Given the description of an element on the screen output the (x, y) to click on. 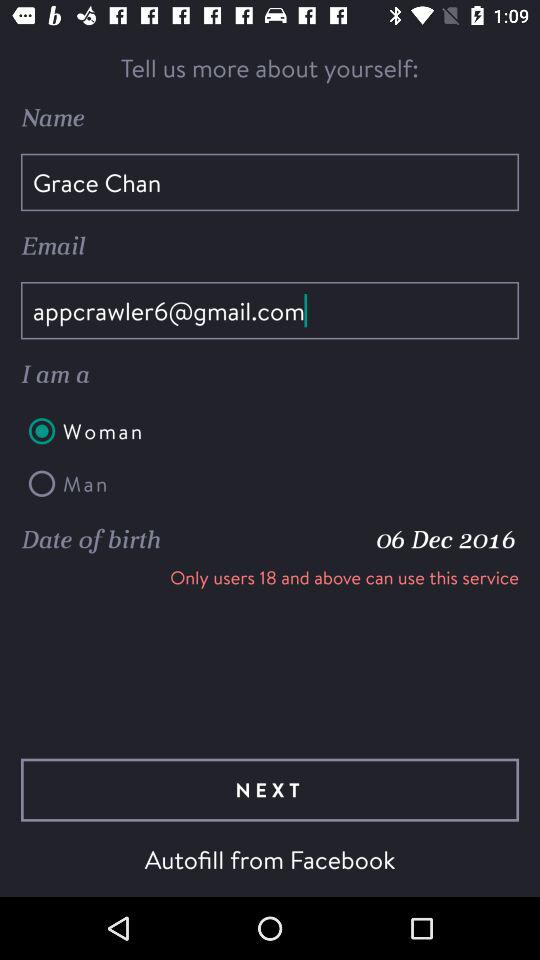
tap item below the only users 18 (270, 789)
